Given the description of an element on the screen output the (x, y) to click on. 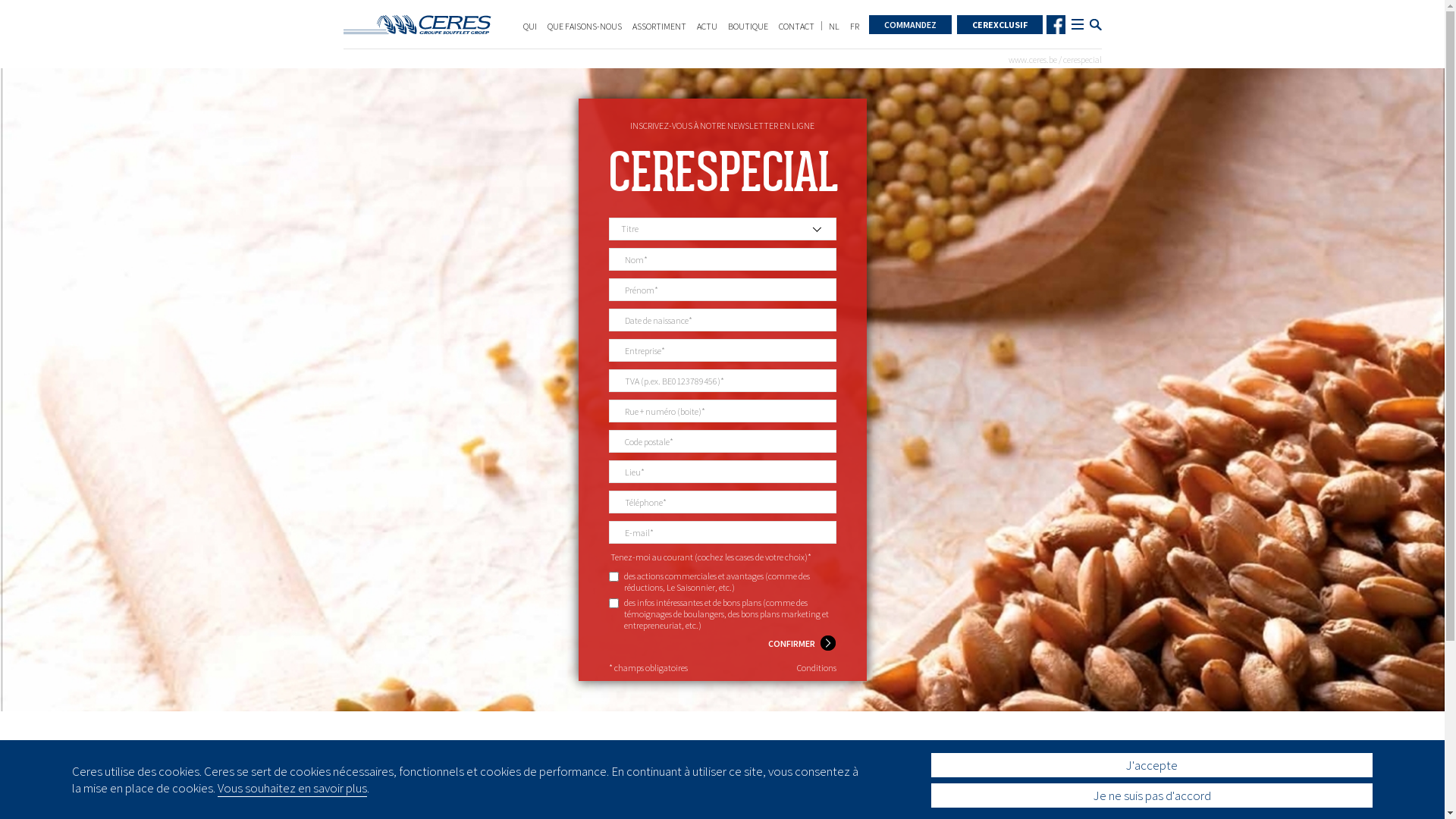
BOUTIQUE Element type: text (747, 25)
Confirmer Element type: text (801, 643)
ASSORTIMENT Element type: text (658, 25)
J'accepte Element type: text (1151, 765)
Conditions Element type: text (815, 667)
rechercher Element type: text (1094, 24)
Je ne suis pas d'accord Element type: text (1151, 795)
QUI Element type: text (529, 25)
Vous souhaitez en savoir plus Element type: text (292, 788)
ACTU Element type: text (706, 25)
CONTACT Element type: text (795, 25)
NL Element type: text (833, 25)
Menu Element type: hover (1076, 23)
COMMANDEZ Element type: text (910, 24)
QUE FAISONS-NOUS Element type: text (584, 25)
FR Element type: text (853, 25)
www.ceres.be Element type: text (1032, 59)
